Given the description of an element on the screen output the (x, y) to click on. 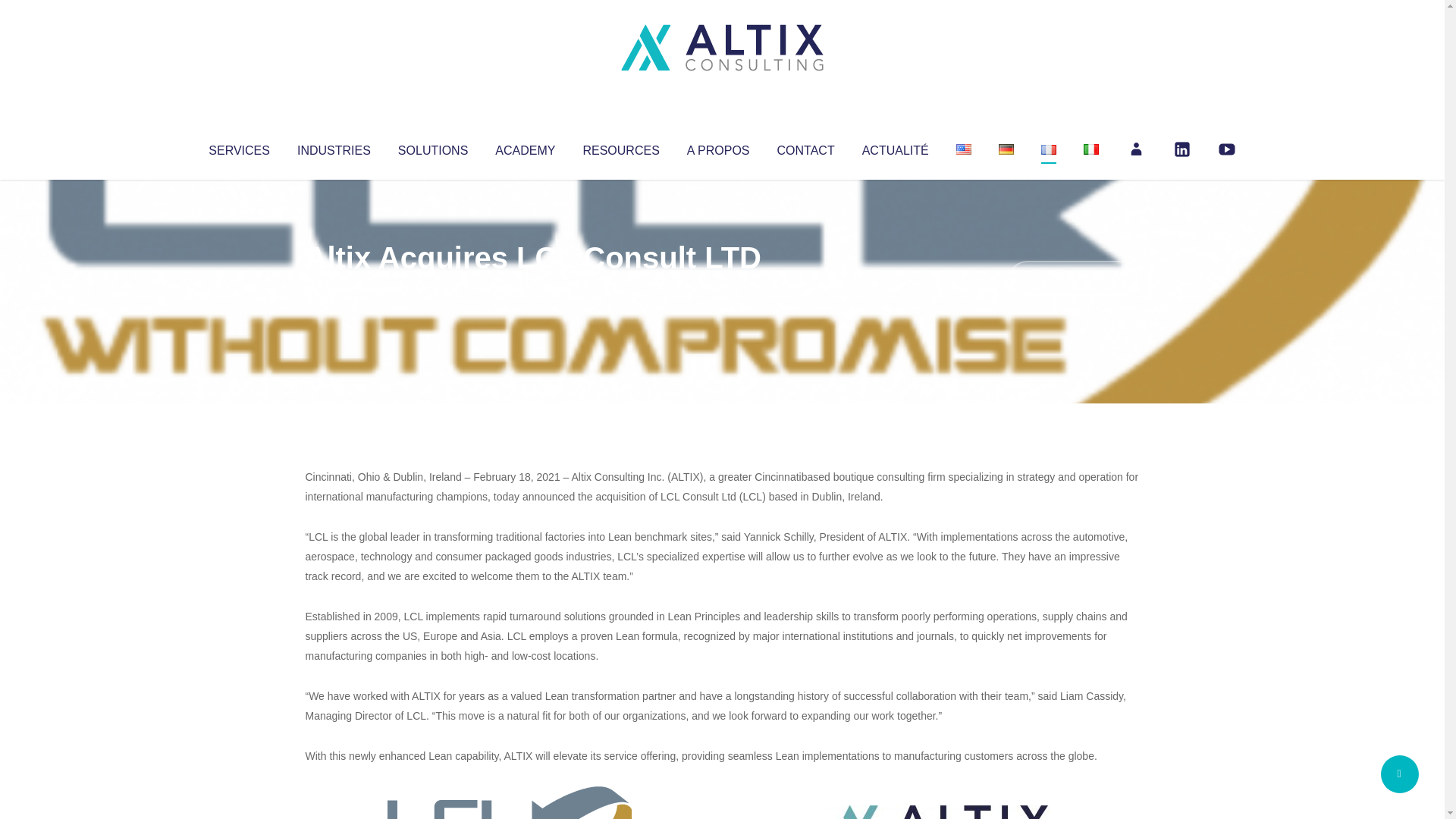
ACADEMY (524, 146)
A PROPOS (718, 146)
RESOURCES (620, 146)
Uncategorized (530, 287)
Articles par Altix (333, 287)
No Comments (1073, 278)
SERVICES (238, 146)
Altix (333, 287)
INDUSTRIES (334, 146)
SOLUTIONS (432, 146)
